Given the description of an element on the screen output the (x, y) to click on. 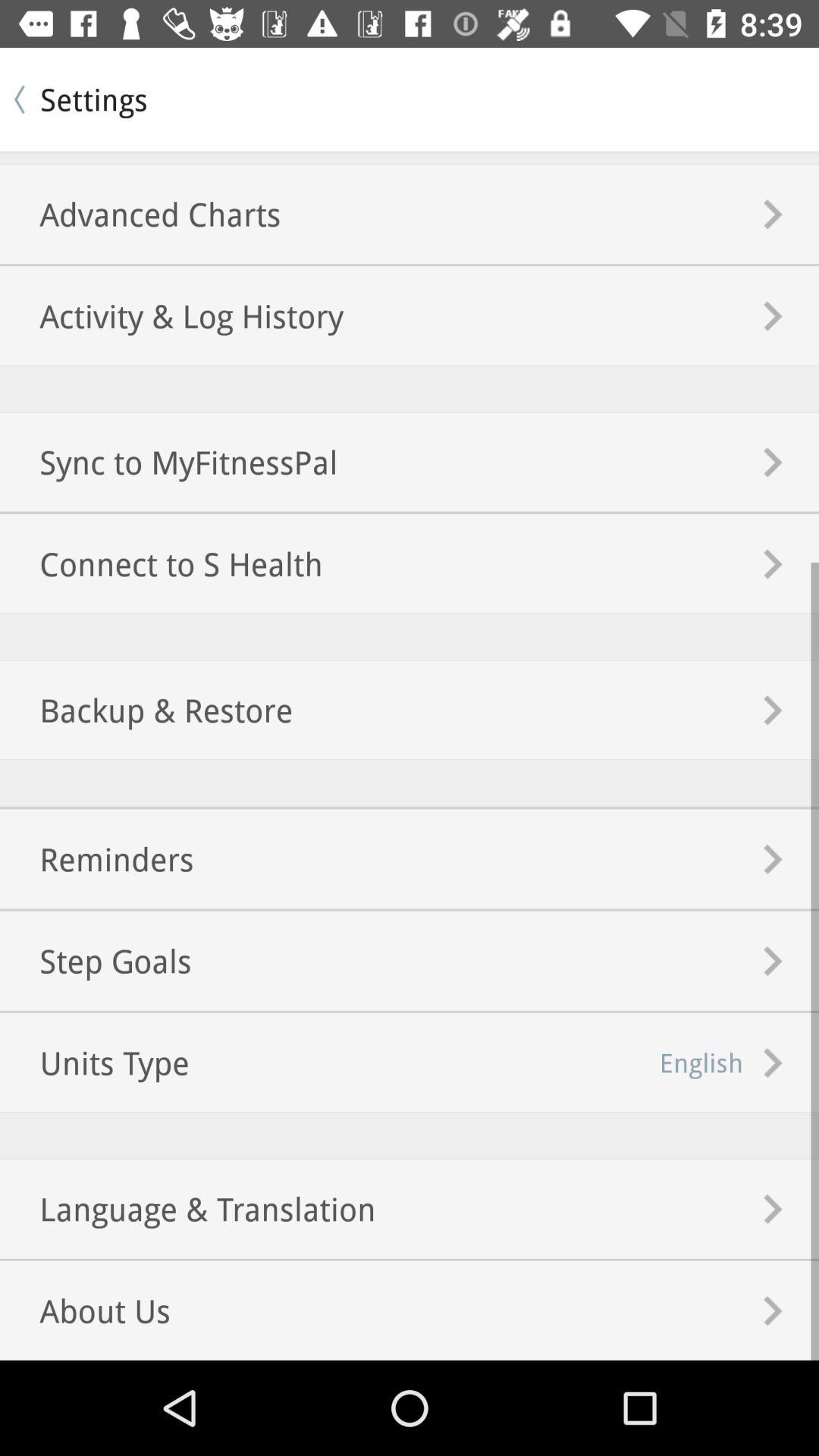
turn off the icon next to english item (95, 960)
